Given the description of an element on the screen output the (x, y) to click on. 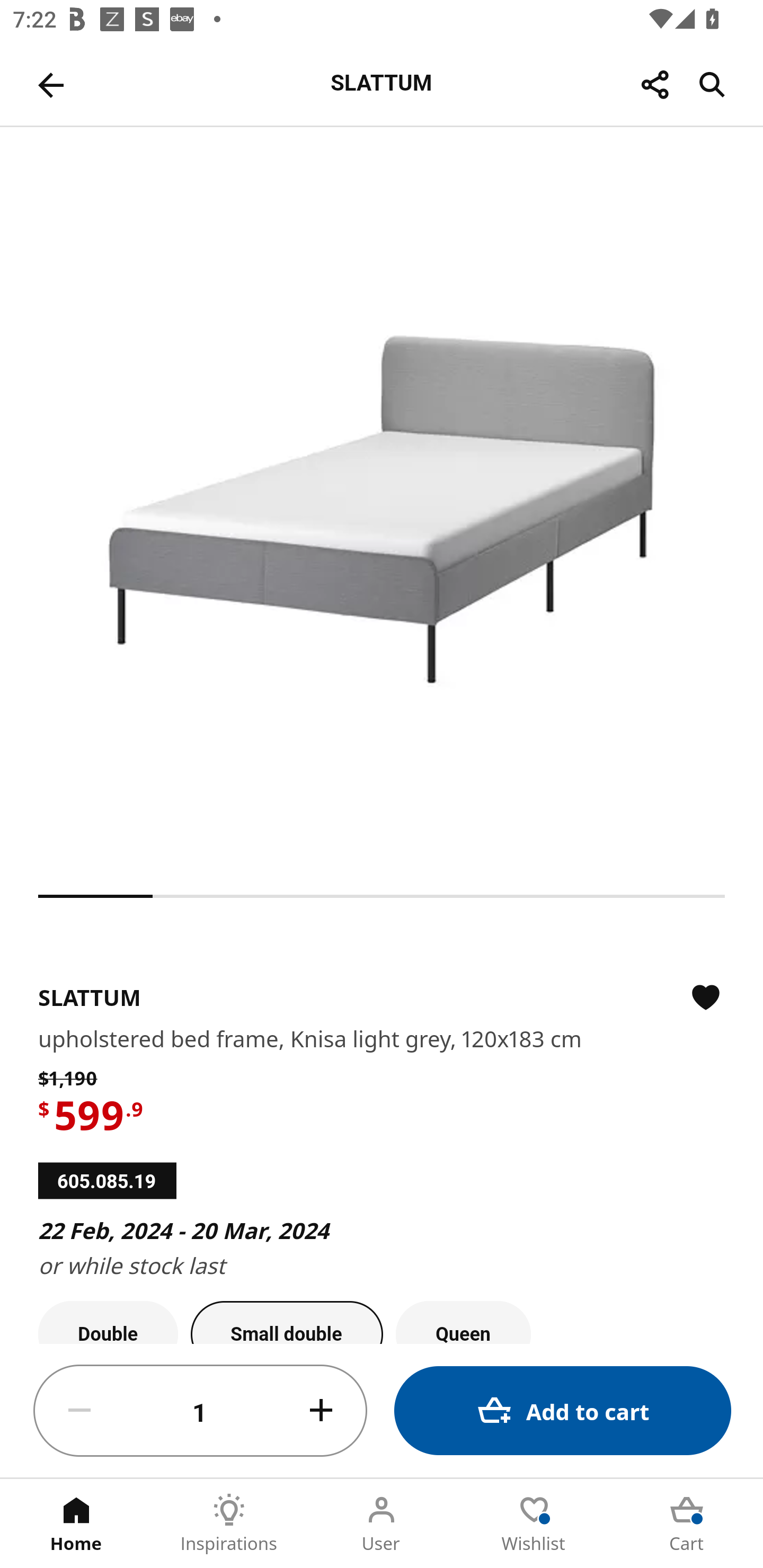
Double (107, 1322)
Small double (286, 1322)
Queen (463, 1322)
Add to cart (562, 1410)
1 (200, 1411)
Home
Tab 1 of 5 (76, 1522)
Inspirations
Tab 2 of 5 (228, 1522)
User
Tab 3 of 5 (381, 1522)
Wishlist
Tab 4 of 5 (533, 1522)
Cart
Tab 5 of 5 (686, 1522)
